Given the description of an element on the screen output the (x, y) to click on. 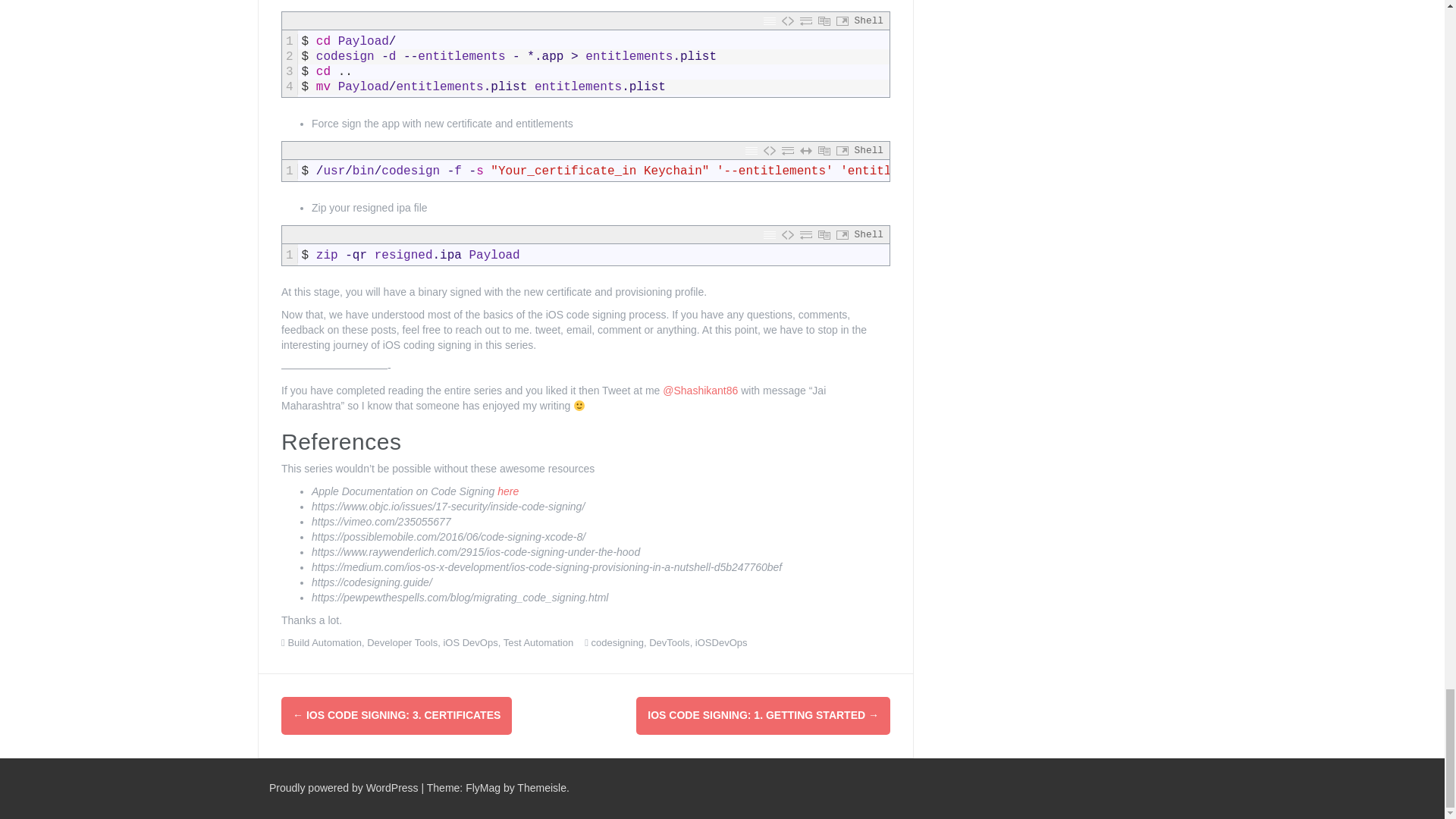
Test Automation (538, 642)
DevTools (668, 642)
Build Automation (323, 642)
here (507, 491)
iOSDevOps (721, 642)
Developer Tools (402, 642)
codesigning (617, 642)
iOS DevOps (469, 642)
